Given the description of an element on the screen output the (x, y) to click on. 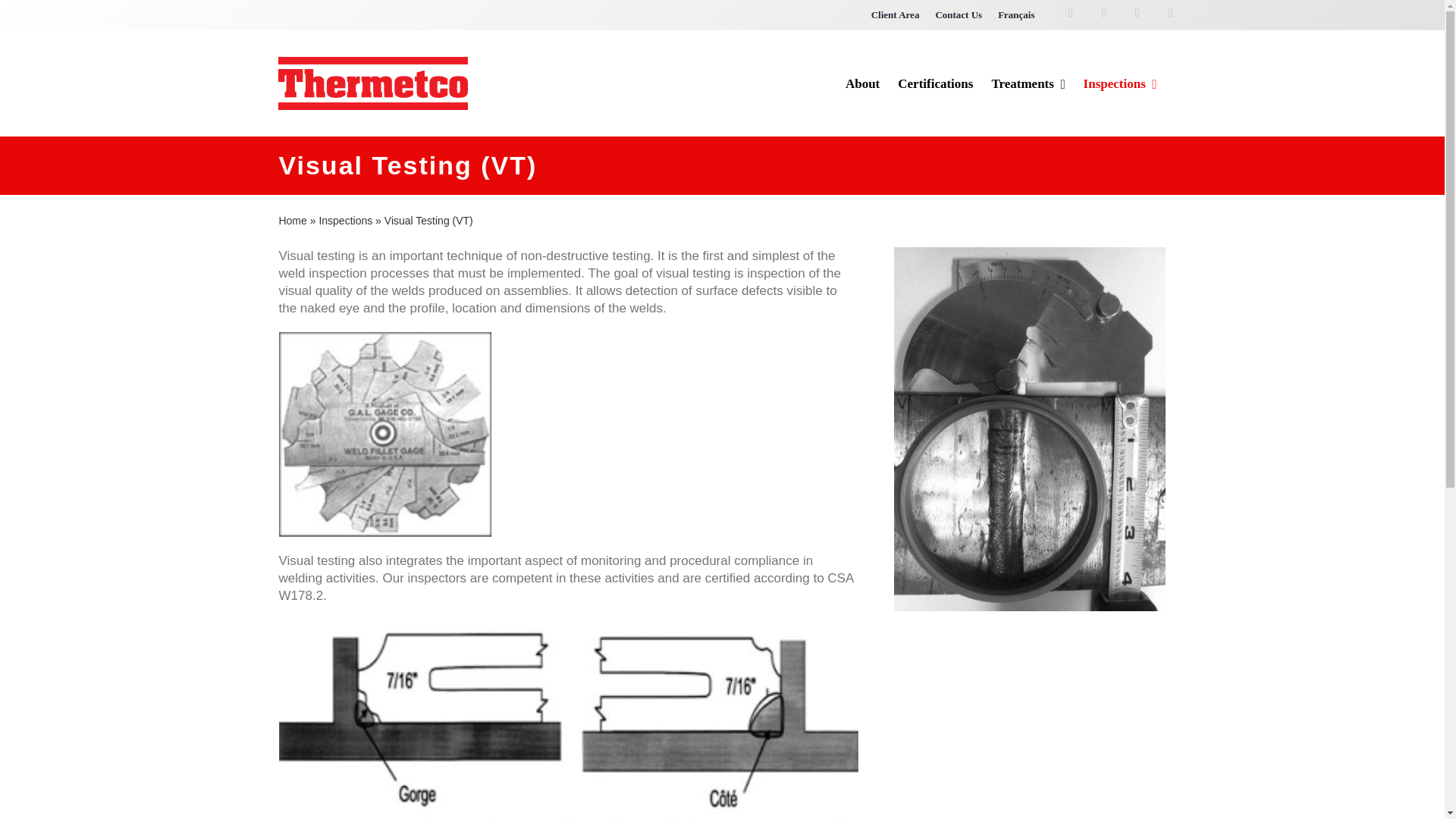
Client Area (895, 15)
LinkedIn (1137, 12)
Twitter (1103, 12)
YouTube (1170, 12)
Contact Us (958, 15)
Facebook (1070, 12)
